Given the description of an element on the screen output the (x, y) to click on. 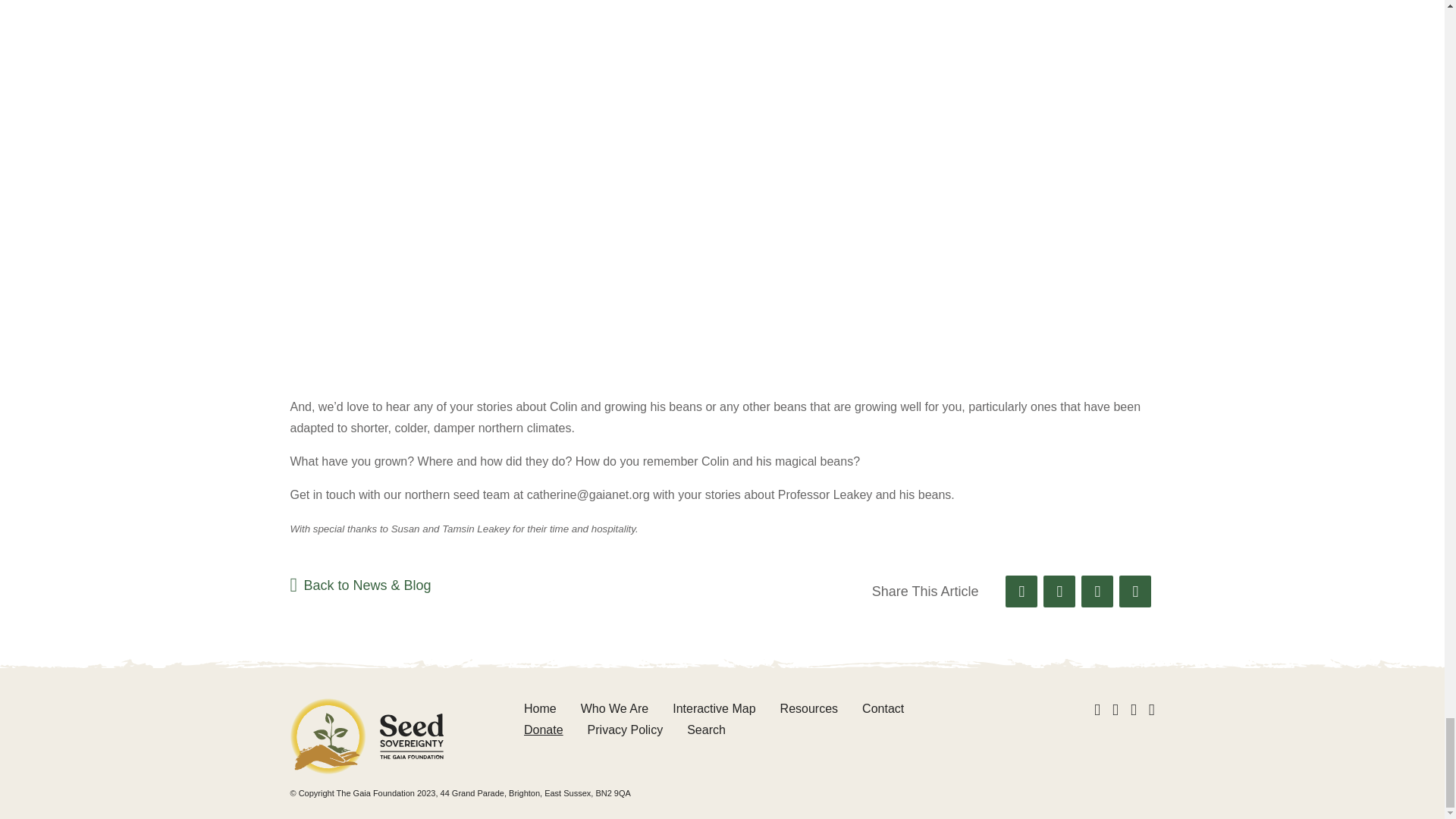
Twitter (1059, 591)
Linked In (1097, 591)
Seed Sovereignty (365, 735)
Facebook (1021, 591)
Email (1135, 591)
